Given the description of an element on the screen output the (x, y) to click on. 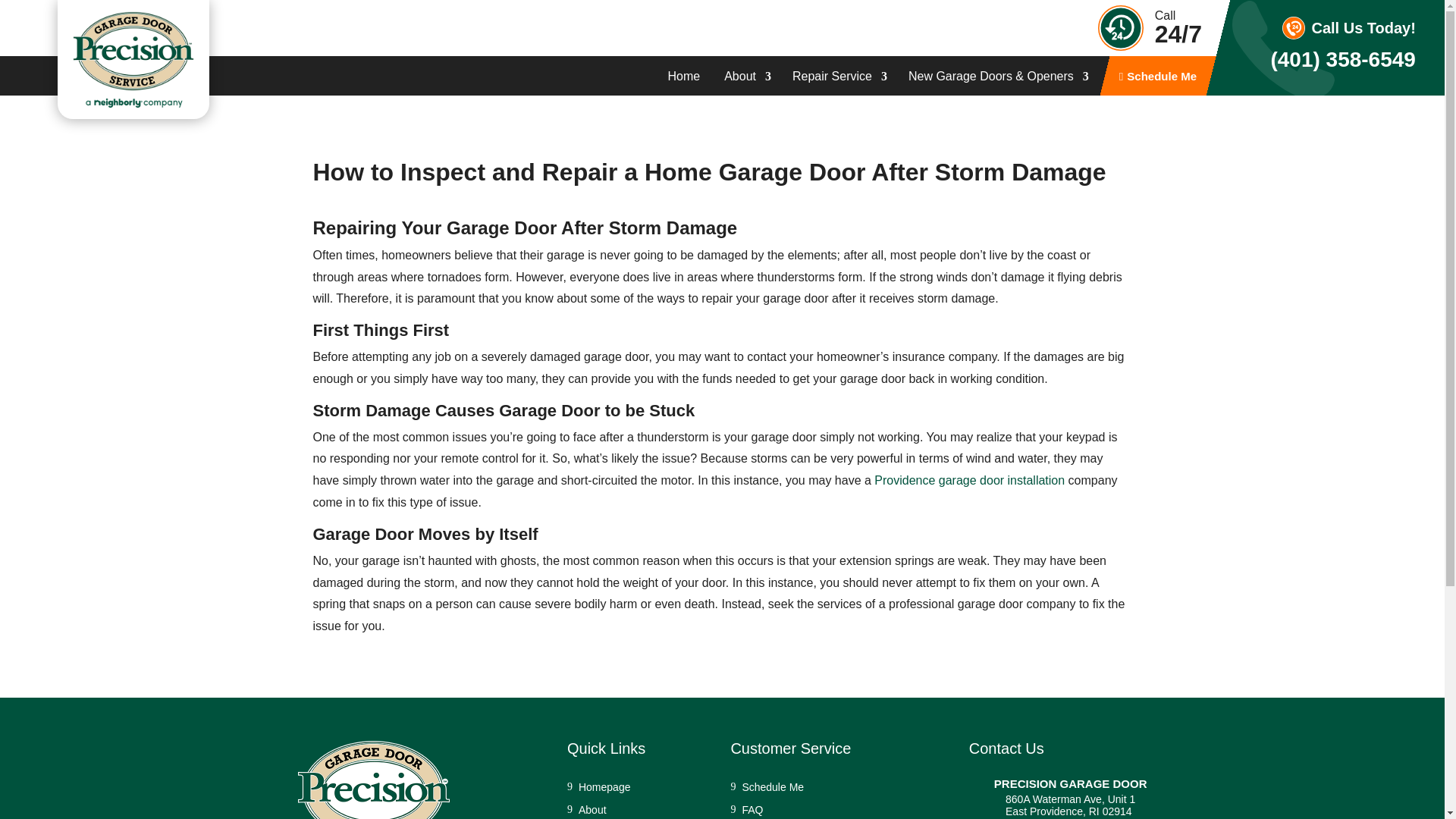
Precision Garage Door Service (372, 780)
Precision Garage Door Service (132, 59)
Home (683, 83)
Repair Service (837, 83)
About (745, 83)
Schedule Me (1157, 83)
